Given the description of an element on the screen output the (x, y) to click on. 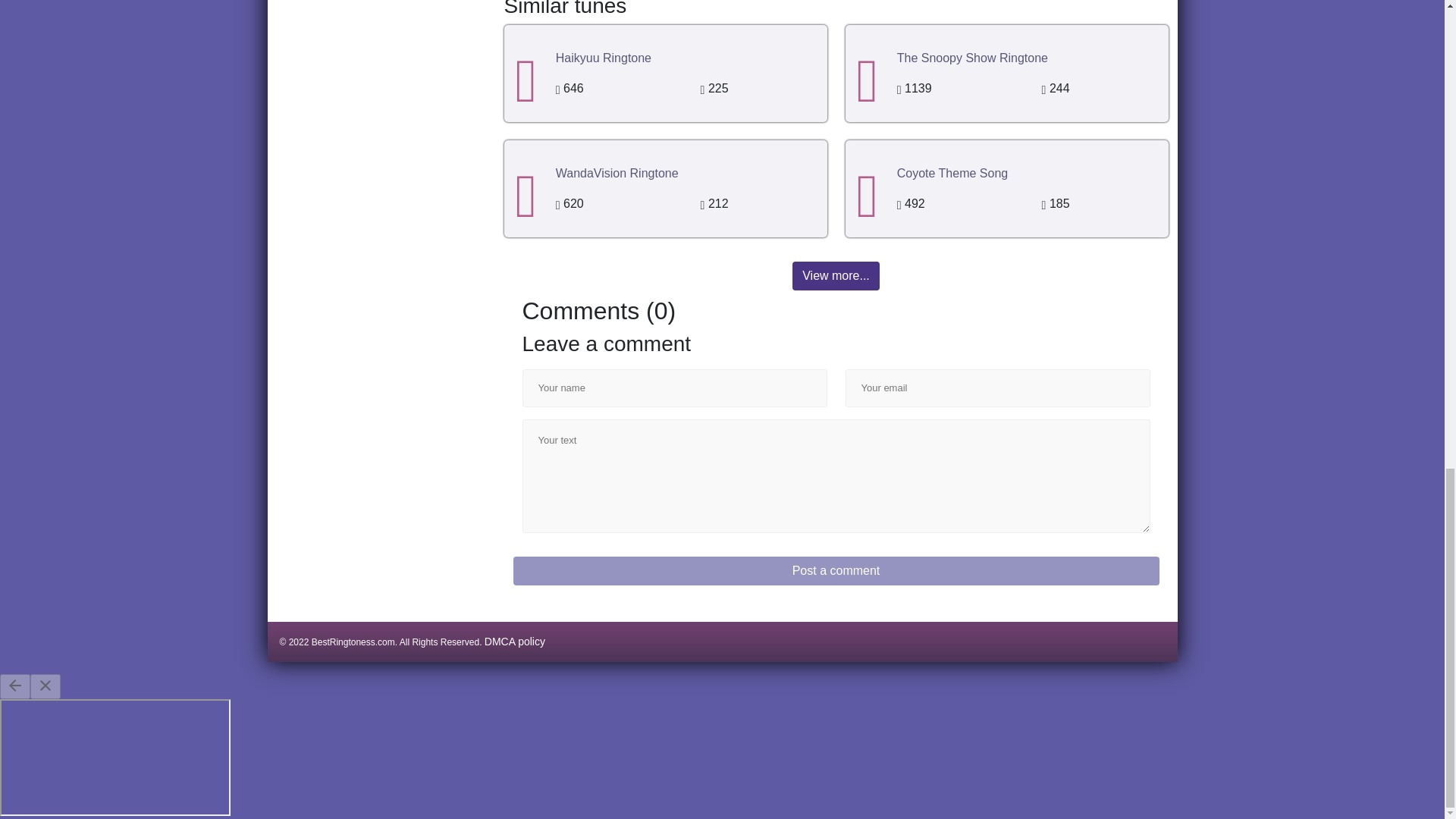
WandaVision Ringtone (617, 173)
View more... (835, 275)
Post a comment (835, 570)
The Snoopy Show Ringtone (972, 57)
Haikyuu Ringtone (603, 57)
Coyote Theme Song (951, 173)
